Given the description of an element on the screen output the (x, y) to click on. 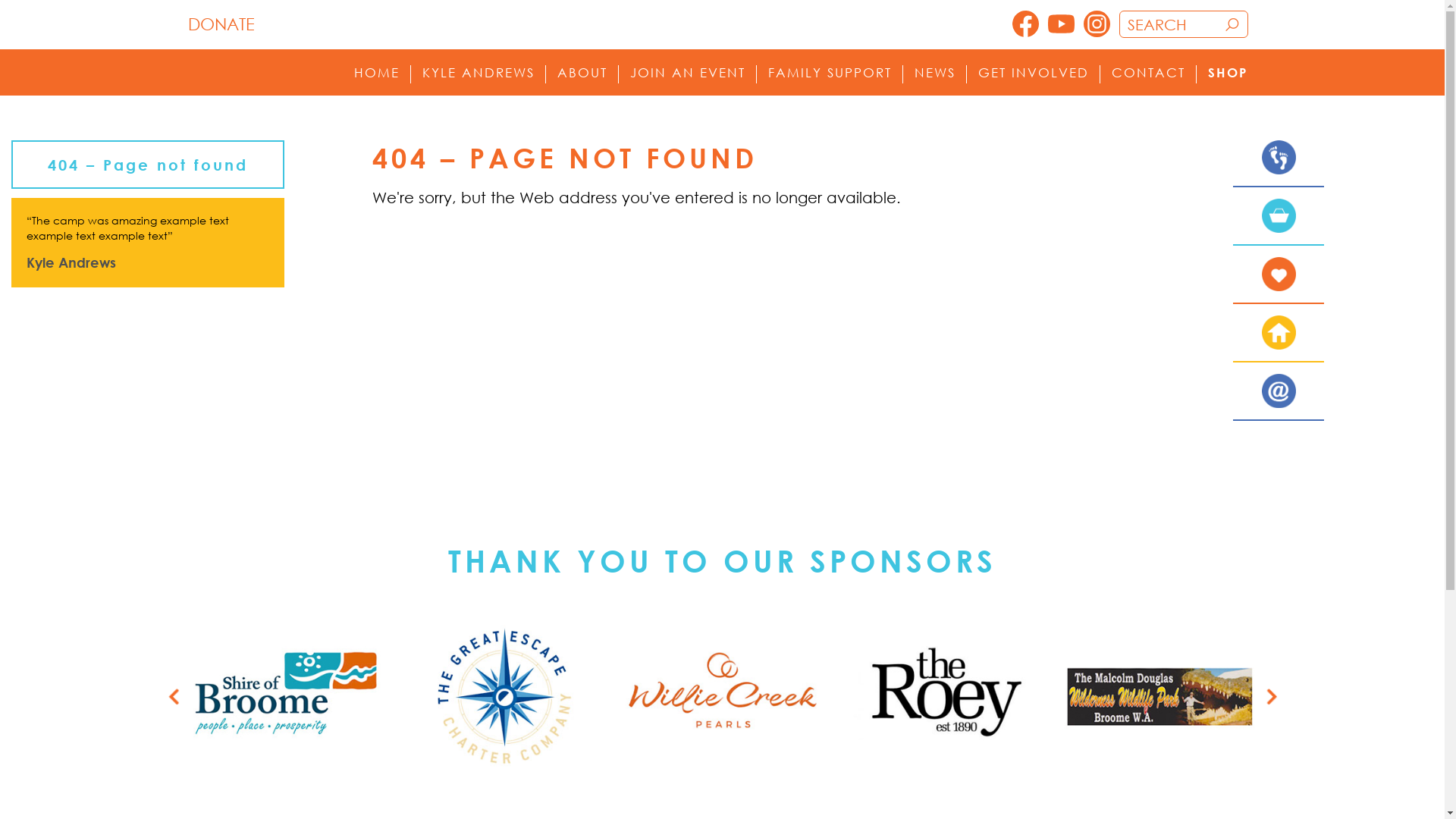
GET INVOLVED Element type: text (1033, 72)
CONTACT Element type: text (1148, 72)
FAMILY SUPPORT Element type: text (829, 72)
JOIN AN EVENT Element type: text (686, 72)
HOME Element type: text (375, 72)
ABOUT Element type: text (581, 72)
SHOP Element type: text (1227, 72)
Next Element type: text (1271, 696)
NEWS Element type: text (934, 72)
Previous Element type: text (173, 696)
DONATE Element type: text (221, 23)
KYLE ANDREWS Element type: text (477, 72)
